Given the description of an element on the screen output the (x, y) to click on. 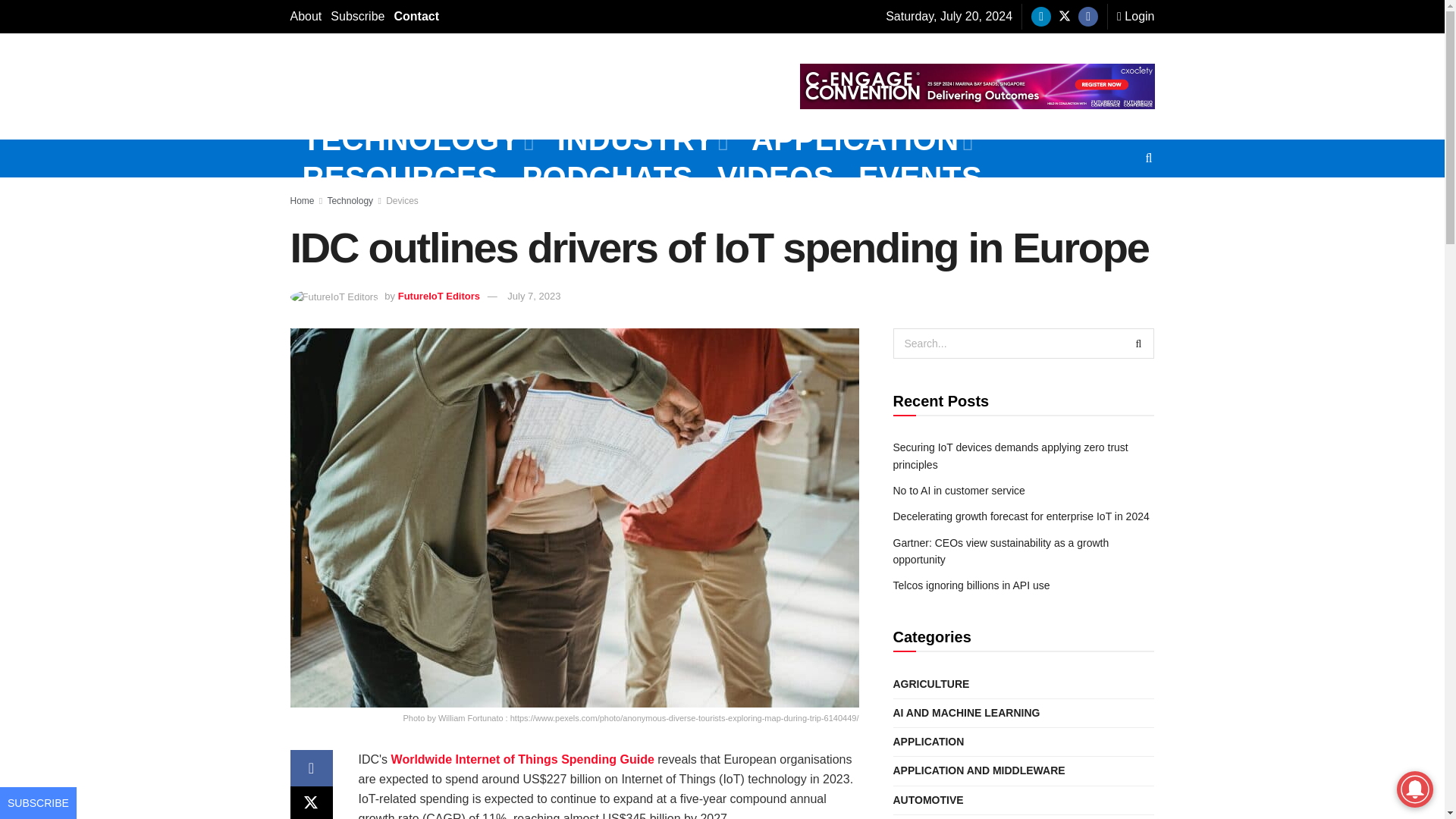
Login (1135, 16)
About (305, 16)
INDUSTRY (641, 139)
VIDEOS (774, 177)
Subscribe (357, 16)
RESOURCES (399, 177)
APPLICATION (861, 139)
Contact (416, 16)
TECHNOLOGY (416, 139)
EVENTS (919, 177)
PODCHATS (606, 177)
